Given the description of an element on the screen output the (x, y) to click on. 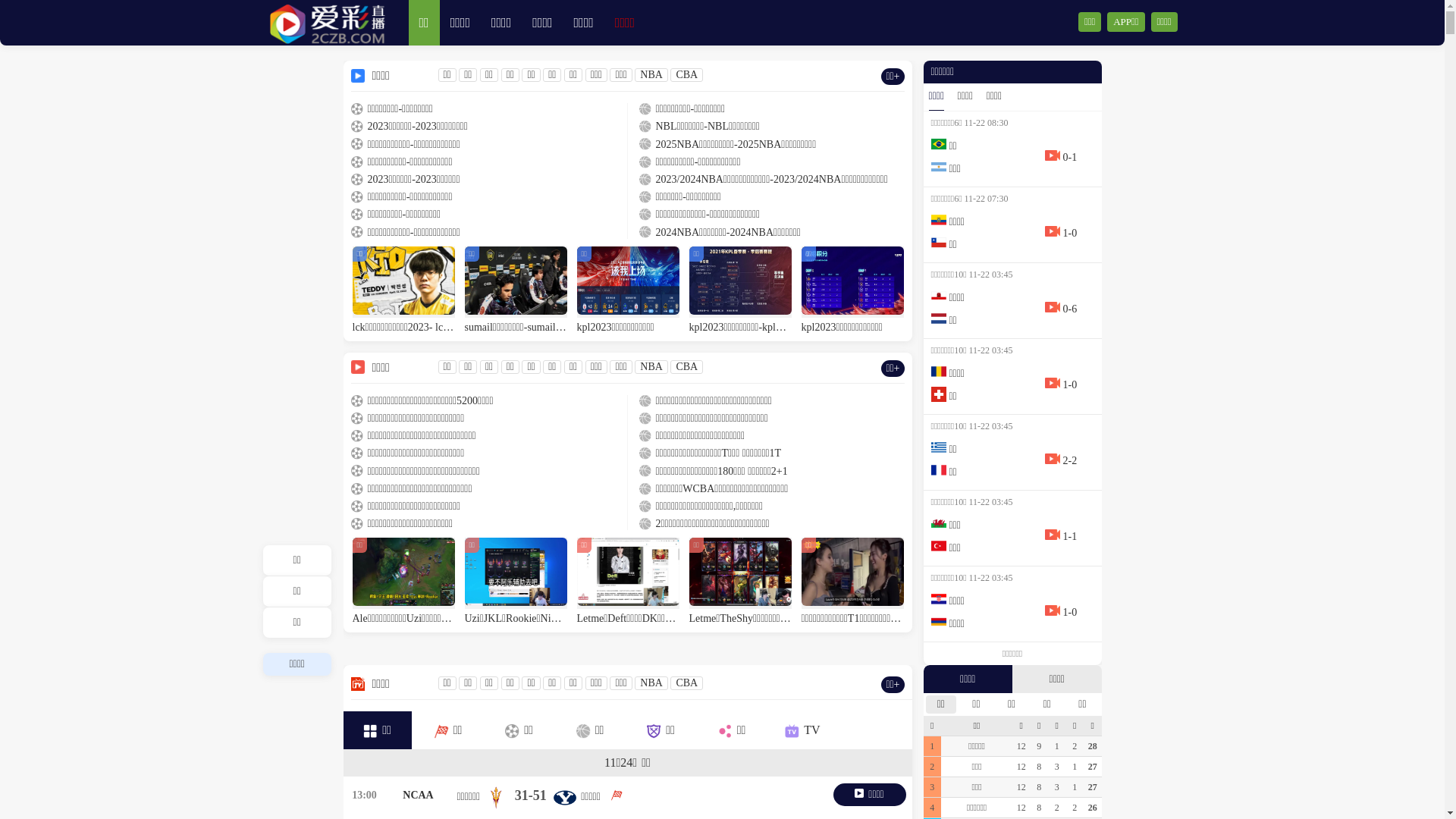
CBA Element type: text (686, 74)
NBA Element type: text (651, 682)
CBA Element type: text (686, 366)
TV Element type: text (802, 730)
NBA Element type: text (651, 74)
CBA Element type: text (686, 682)
NBA Element type: text (651, 366)
